Given the description of an element on the screen output the (x, y) to click on. 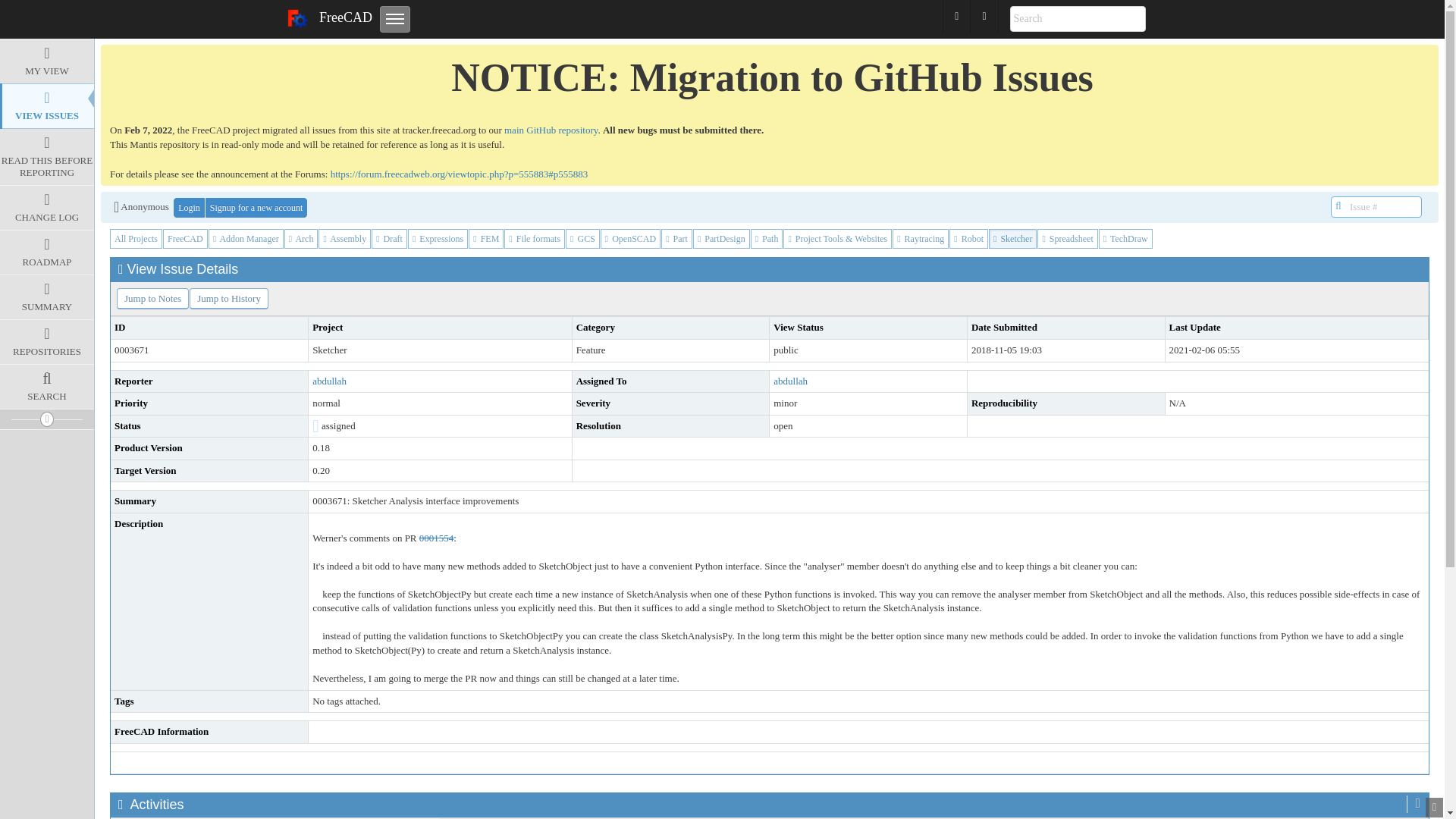
FreeCAD Tracker (63, 15)
MY VIEW (47, 61)
FreeCAD (329, 18)
GUEST (1389, 17)
Toggle navigation (395, 18)
FreeCAD homepage (329, 18)
VIEW ISSUES (47, 105)
 SKETCHER  (1308, 17)
Search issues (1077, 18)
